Given the description of an element on the screen output the (x, y) to click on. 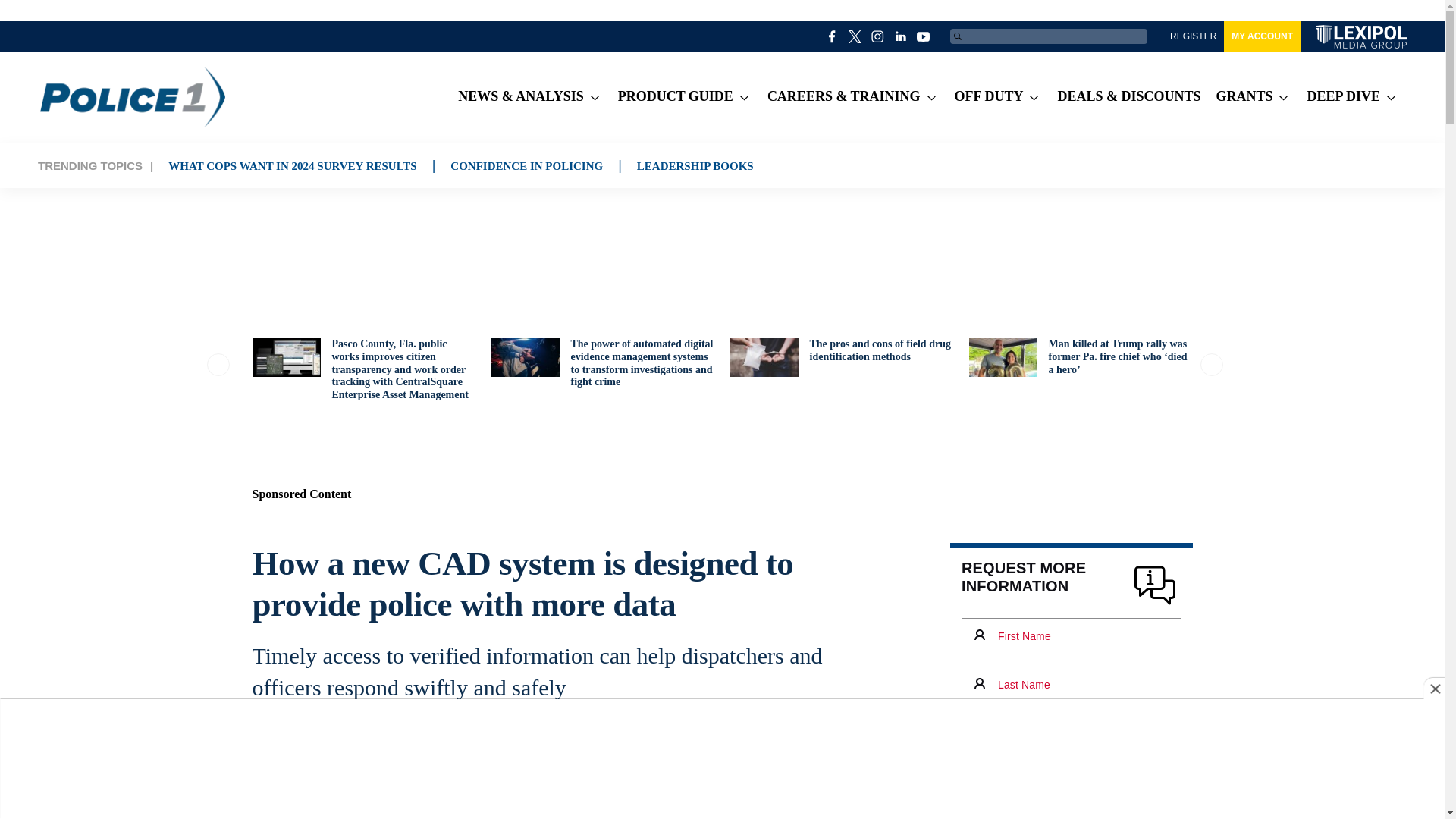
youtube (923, 36)
3rd party ad content (721, 232)
instagram (877, 36)
linkedin (900, 36)
REGISTER (1192, 36)
facebook (832, 36)
twitter (855, 36)
MY ACCOUNT (1262, 36)
